Given the description of an element on the screen output the (x, y) to click on. 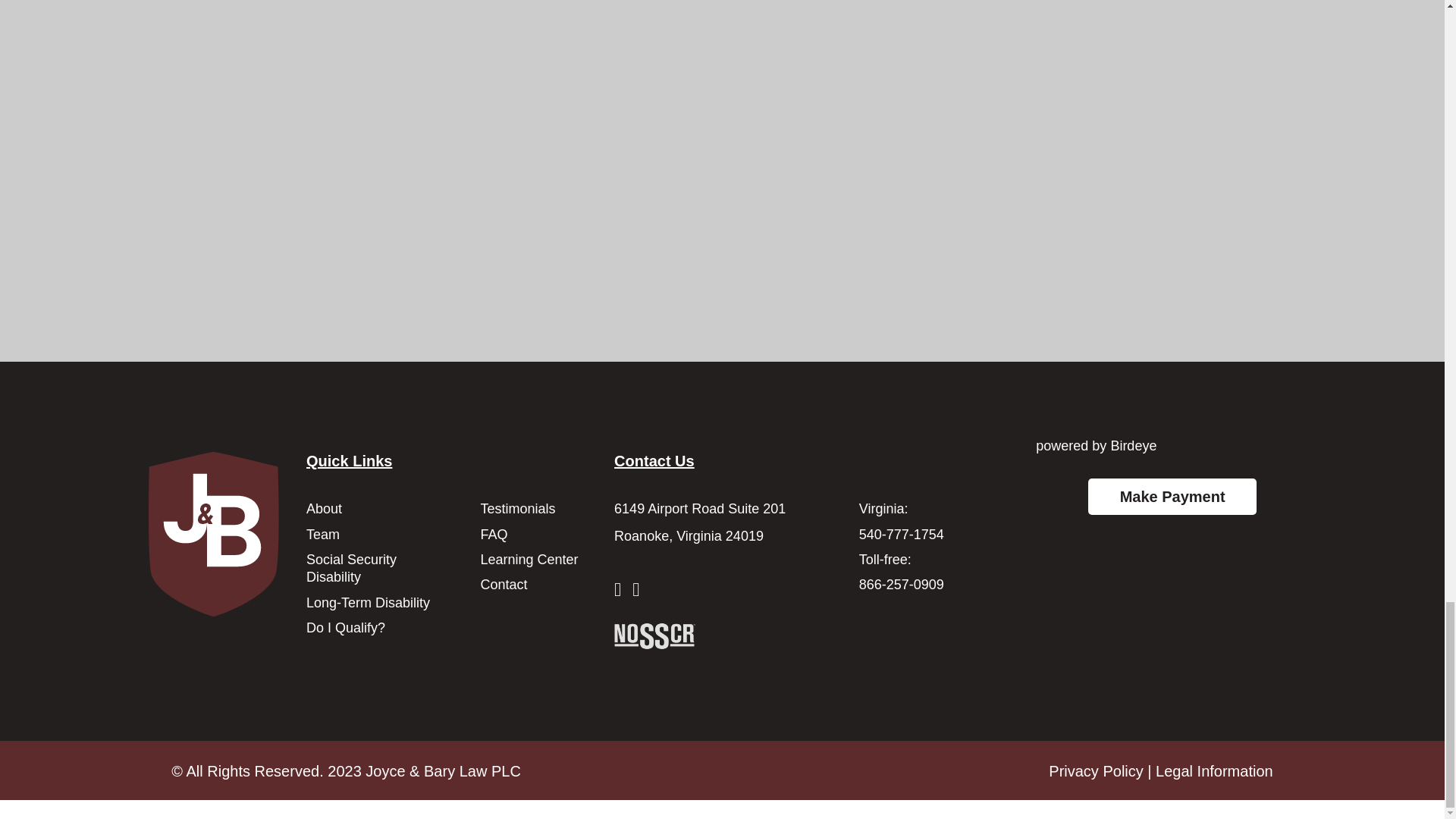
Long-Term Disability (367, 602)
Do I Qualify? (345, 627)
Contact (503, 584)
Testimonials (517, 508)
Team (322, 534)
nosscr-logo (655, 635)
Learning Center (529, 559)
FAQ (493, 534)
Social Security Disability (350, 568)
About (323, 508)
